Given the description of an element on the screen output the (x, y) to click on. 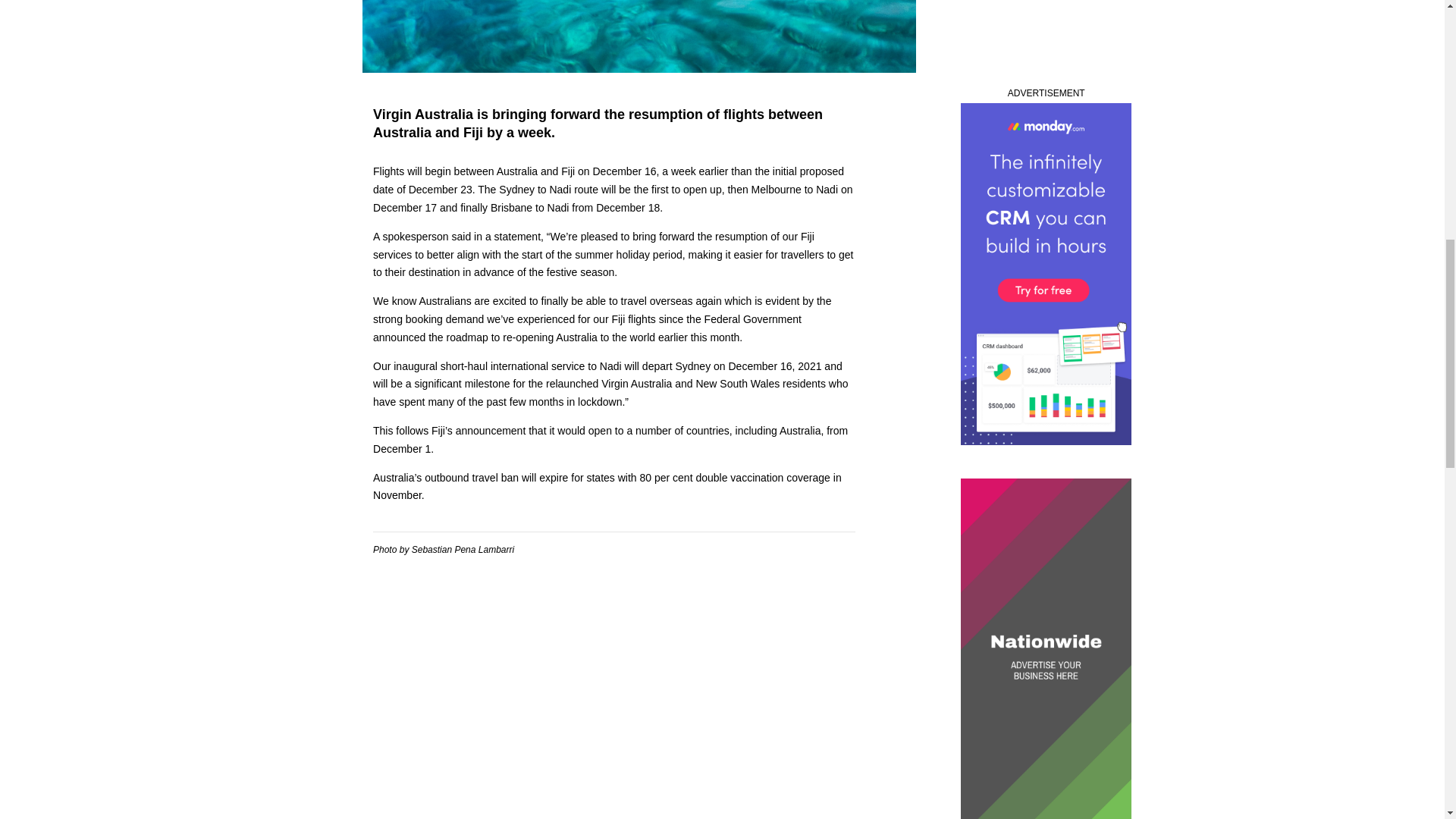
FijiIslandGig (638, 36)
